Given the description of an element on the screen output the (x, y) to click on. 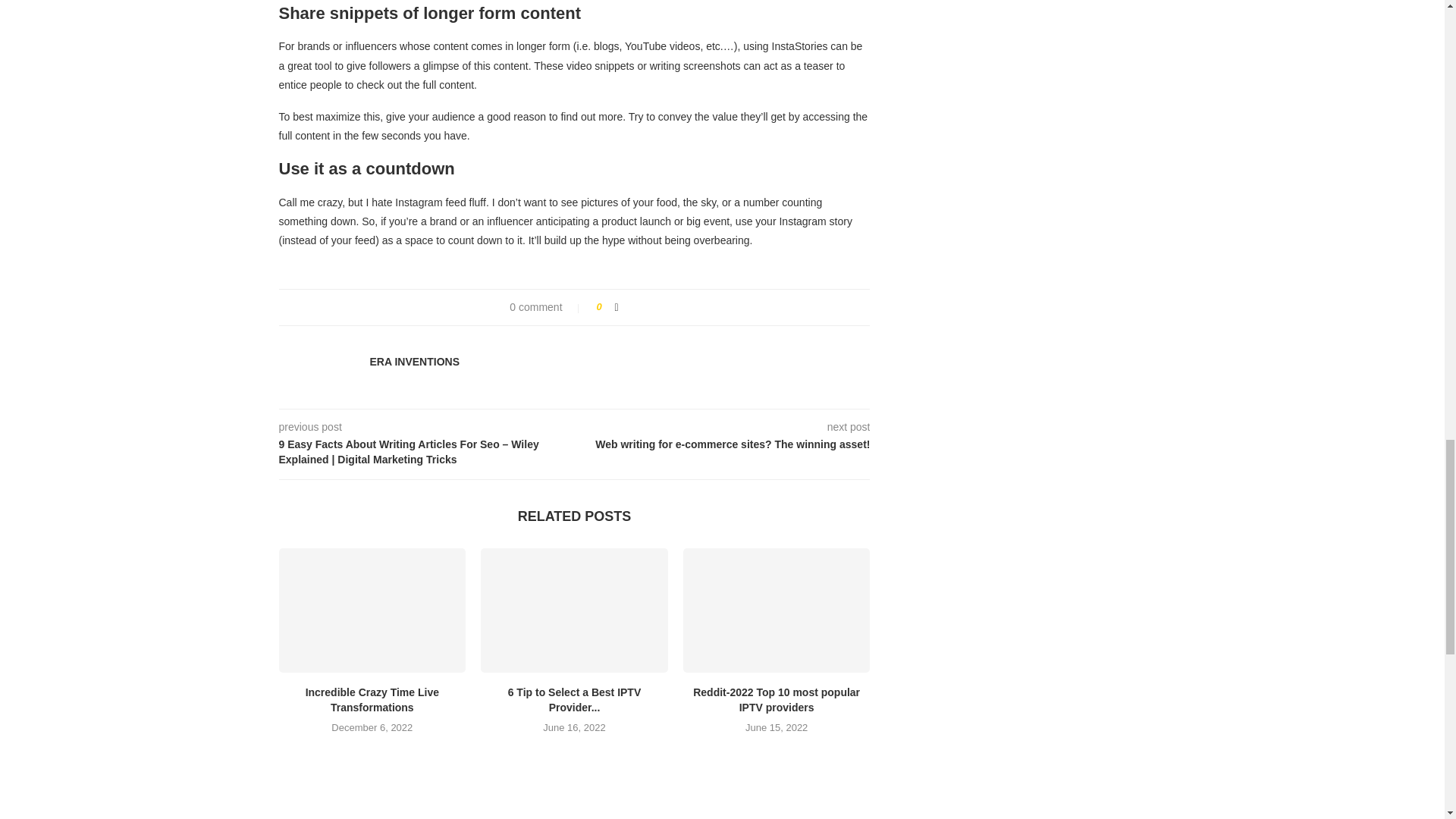
Incredible Crazy Time Live Transformations (372, 699)
6 Tip to Select a Best IPTV Provider... (575, 699)
Reddit-2022 Top 10 most popular IPTV providers (776, 699)
Reddit-2022 Top 10 most popular IPTV providers (776, 609)
ERA INVENTIONS (414, 361)
Author Era Inventions (414, 361)
6 Tip to Select a Best IPTV Provider 2022 (574, 609)
Incredible Crazy Time Live Transformations (372, 609)
Web writing for e-commerce sites? The winning asset! (722, 444)
